Given the description of an element on the screen output the (x, y) to click on. 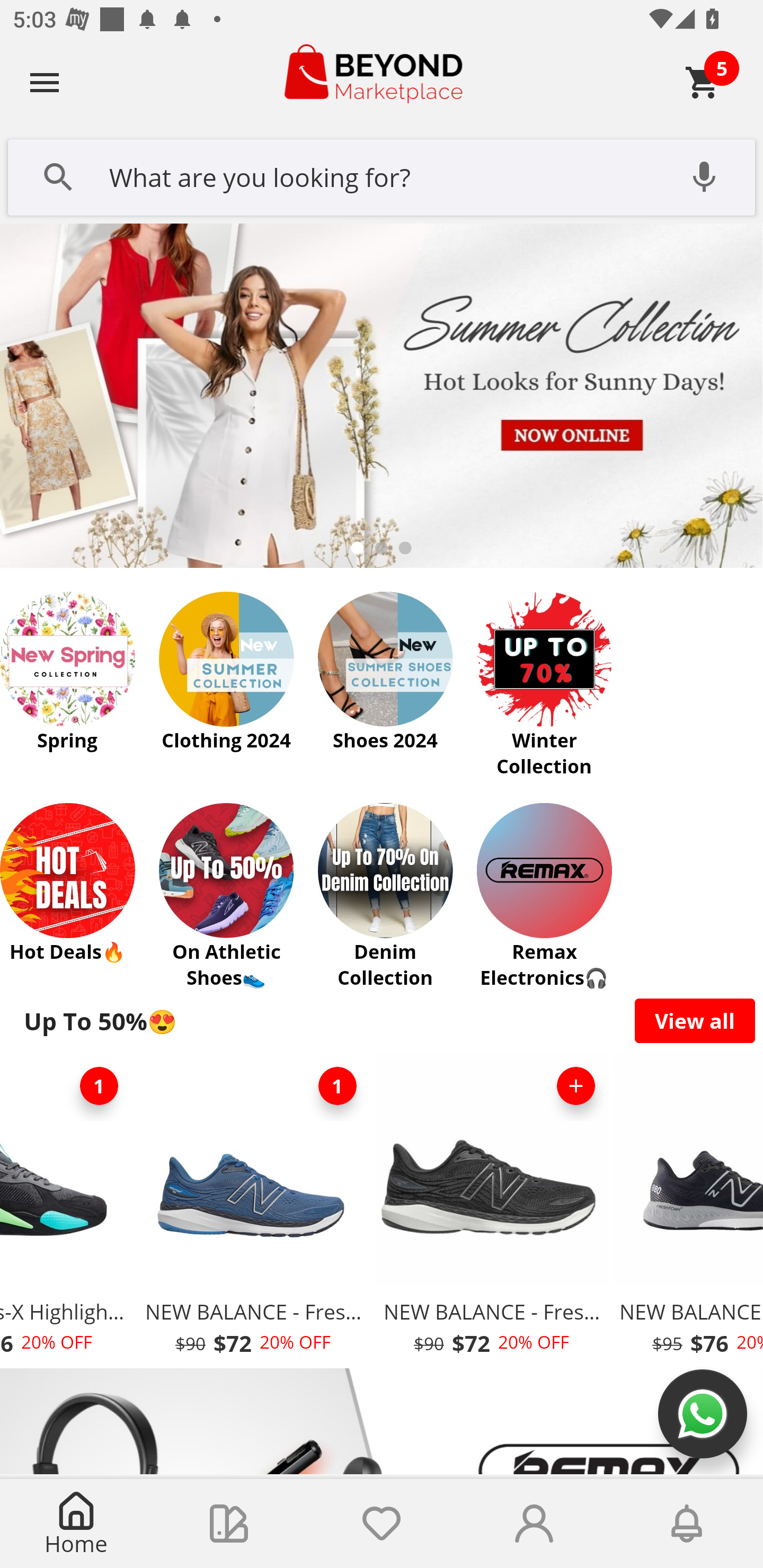
Navigate up (44, 82)
What are you looking for? (381, 175)
View all (694, 1020)
1 (99, 1085)
1 (337, 1085)
NEW BALANCE -  Fresh Foam X 880 $95 $76 20% OFF (687, 1209)
Collections (228, 1523)
Wishlist (381, 1523)
Account (533, 1523)
Notifications (686, 1523)
